Given the description of an element on the screen output the (x, y) to click on. 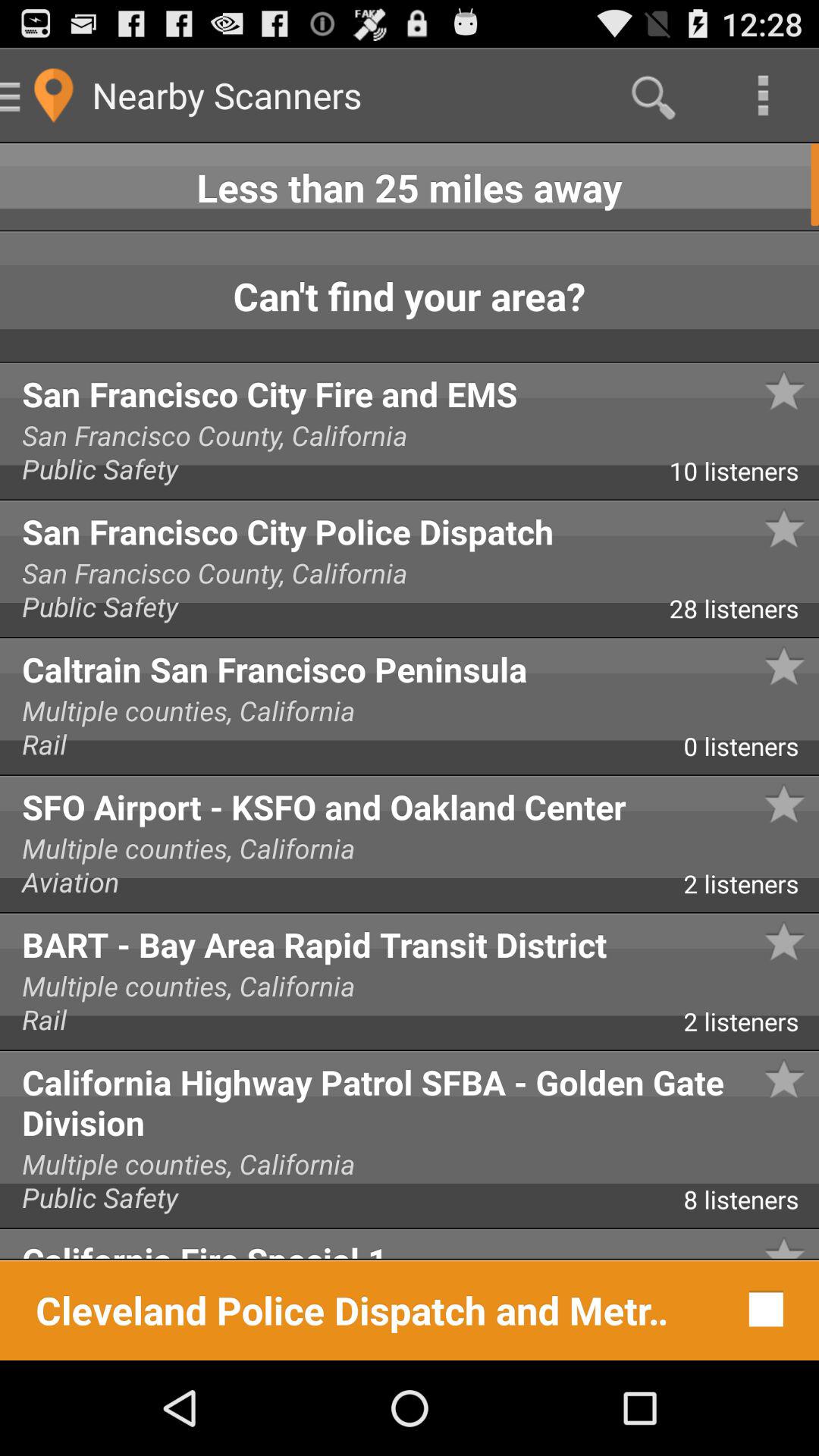
select item below 2 listeners icon (409, 1098)
